Given the description of an element on the screen output the (x, y) to click on. 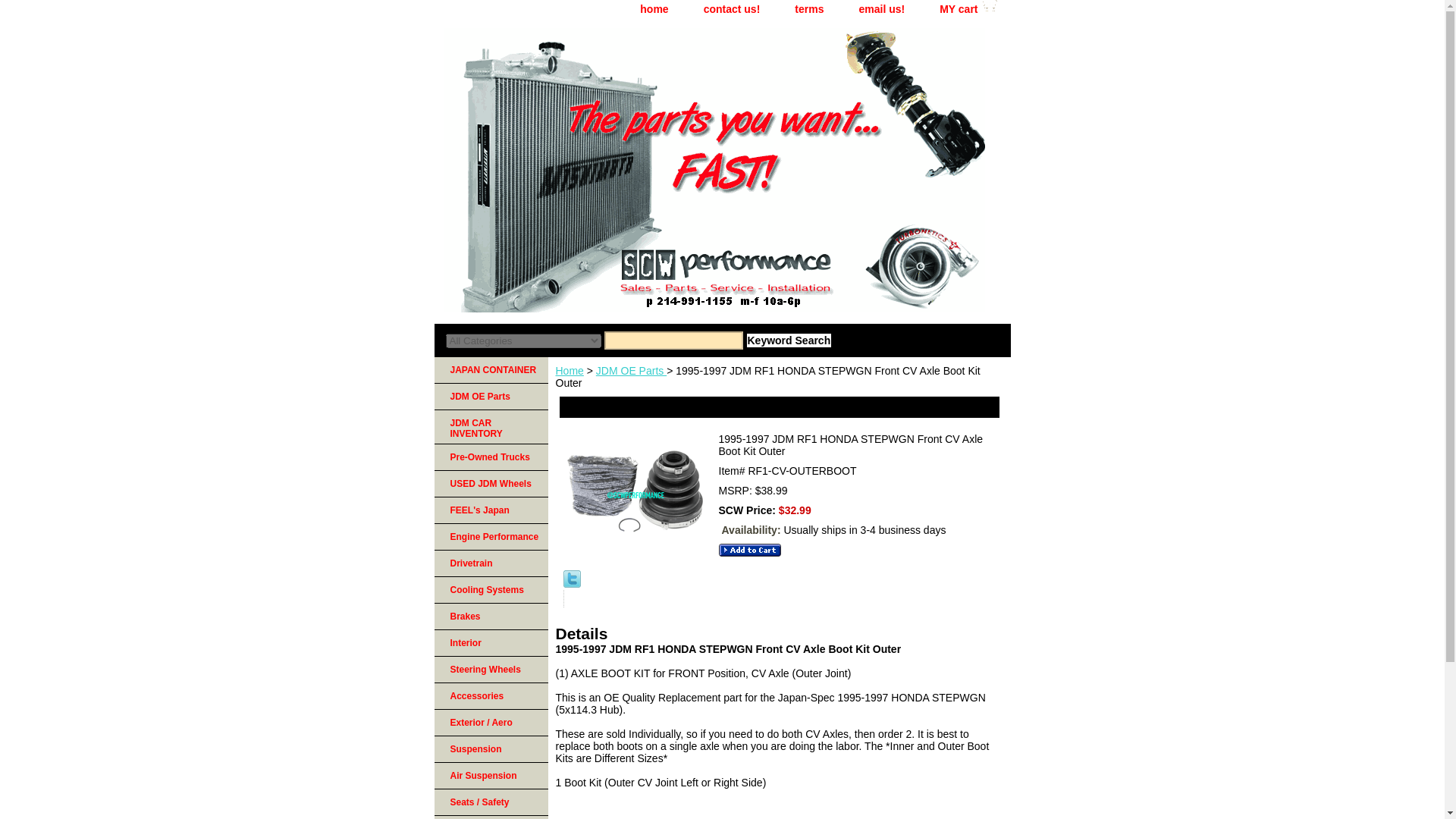
USED JDM Wheels (490, 483)
Keyword Search (788, 340)
Brakes (490, 616)
Keyword Search (788, 340)
JAPAN CONTAINER (490, 370)
FEEL's Japan (490, 510)
Pre-Owned Trucks (490, 457)
1995-1997 JDM RF1 HONDA STEPWGN Front CV Axle Boot Kit Outer (634, 497)
Pre-Owned Trucks (490, 457)
Drivetrain (490, 563)
JDM OE Parts (490, 397)
email us! (881, 9)
home (653, 9)
JDM CAR INVENTORY (490, 427)
Engine Performance (490, 537)
